Given the description of an element on the screen output the (x, y) to click on. 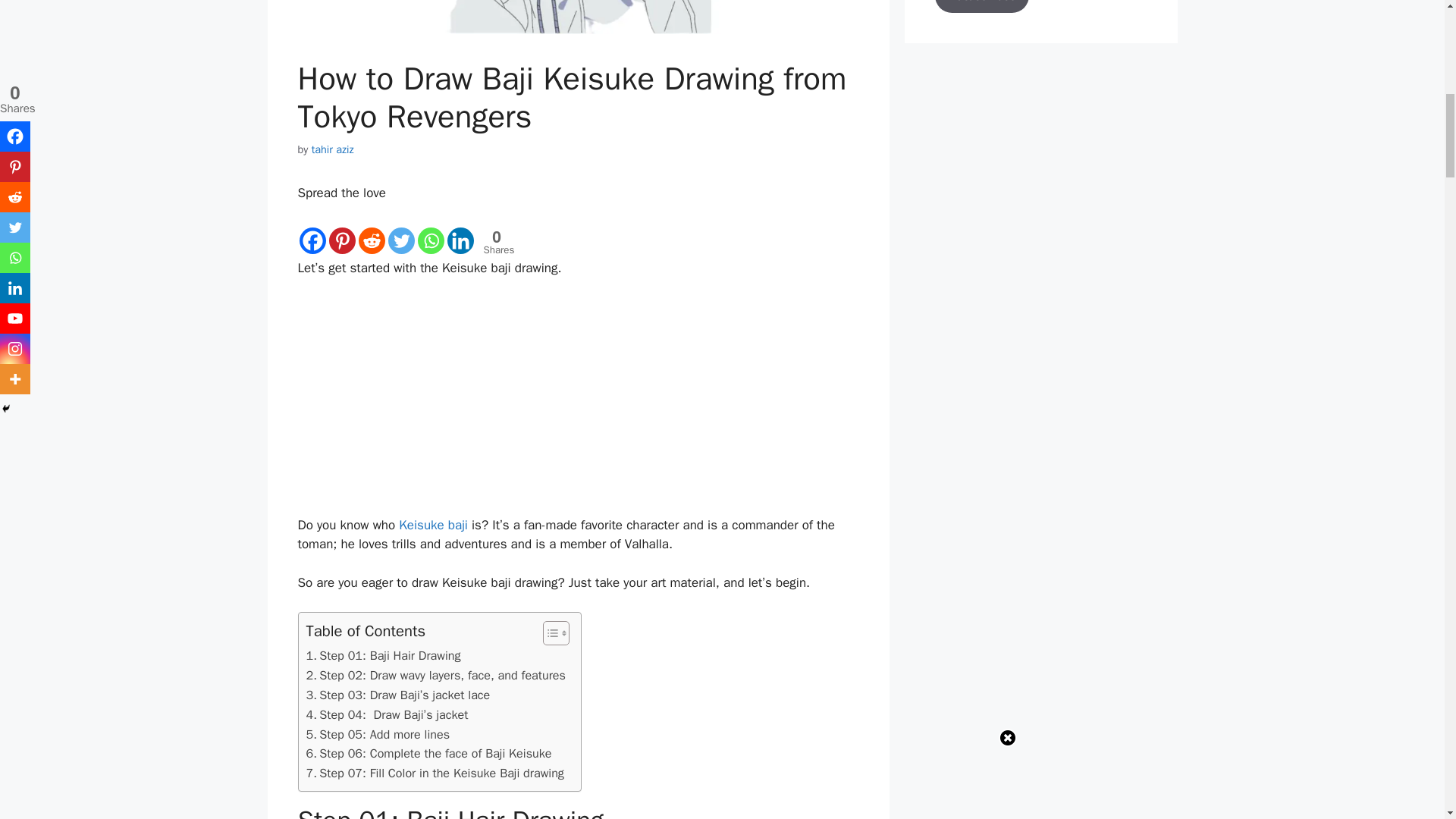
Step 02: Draw wavy layers, face, and features (435, 675)
Keisuke baji (432, 524)
Step 07: Fill Color in the Keisuke Baji drawing (434, 772)
Step 06: Complete the face of Baji Keisuke (428, 753)
Step 05: Add more lines (377, 734)
Total Shares (497, 242)
Step 02: Draw wavy layers, face, and features (435, 675)
tahir aziz (332, 149)
Step 05: Add more lines (377, 734)
